Given the description of an element on the screen output the (x, y) to click on. 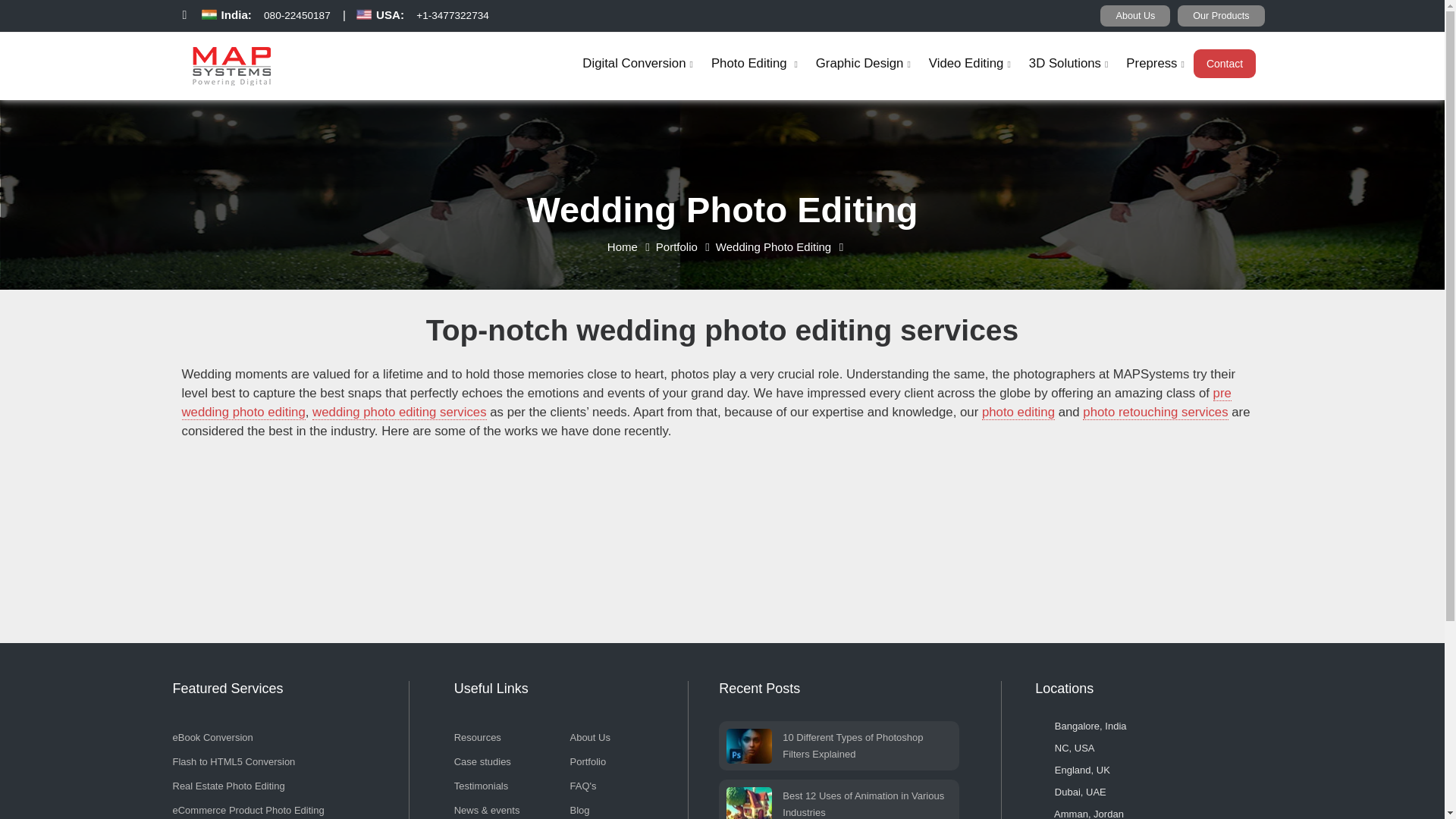
080-22450187 (296, 20)
Photo Editing (753, 62)
Digital Conversion (637, 62)
About Us (1135, 15)
Our Products (1220, 15)
